Given the description of an element on the screen output the (x, y) to click on. 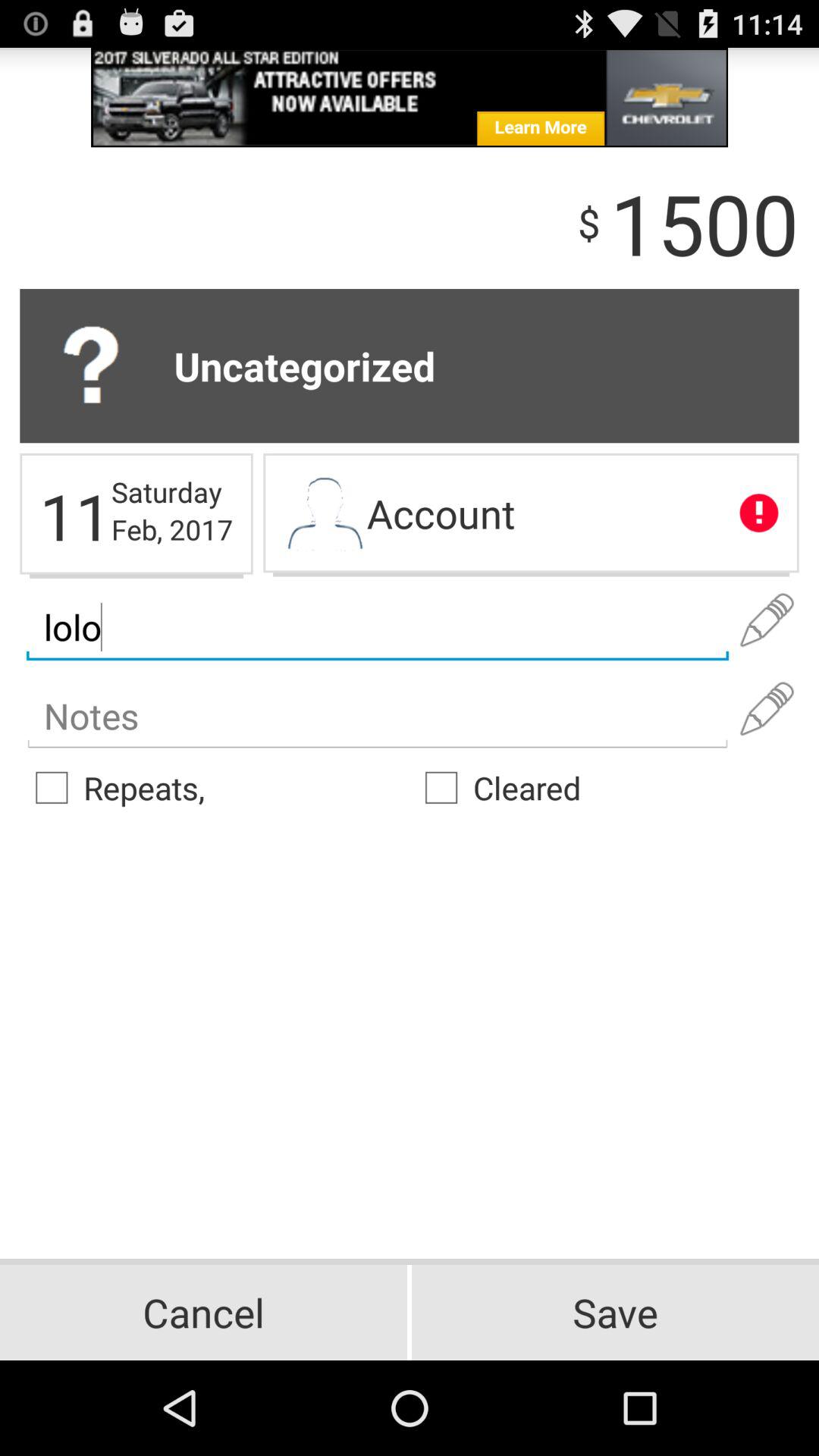
enter some notes (377, 716)
